Given the description of an element on the screen output the (x, y) to click on. 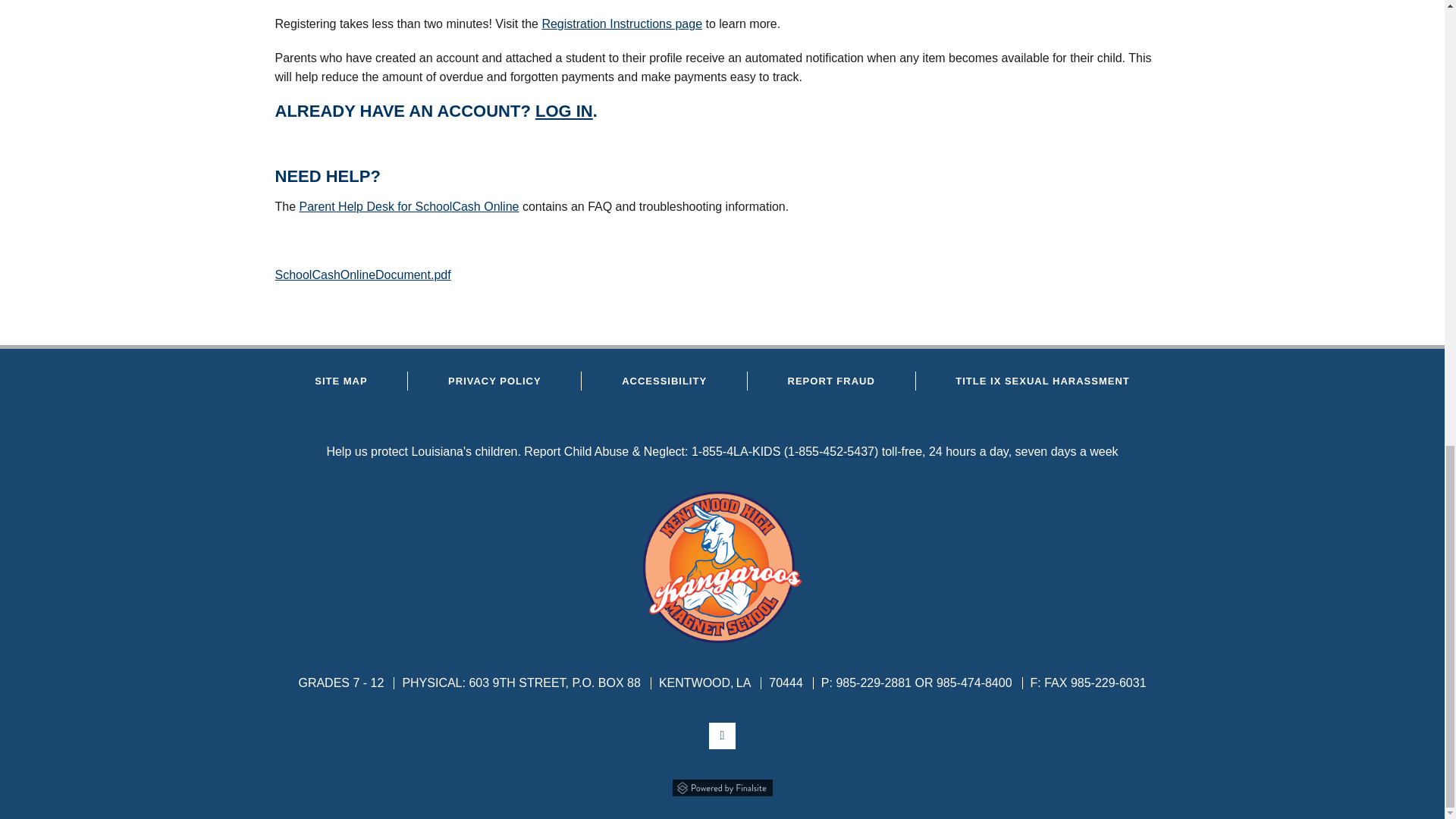
Powered by Finalsite opens in a new window (722, 785)
School Cash Online Help Document (362, 274)
